Given the description of an element on the screen output the (x, y) to click on. 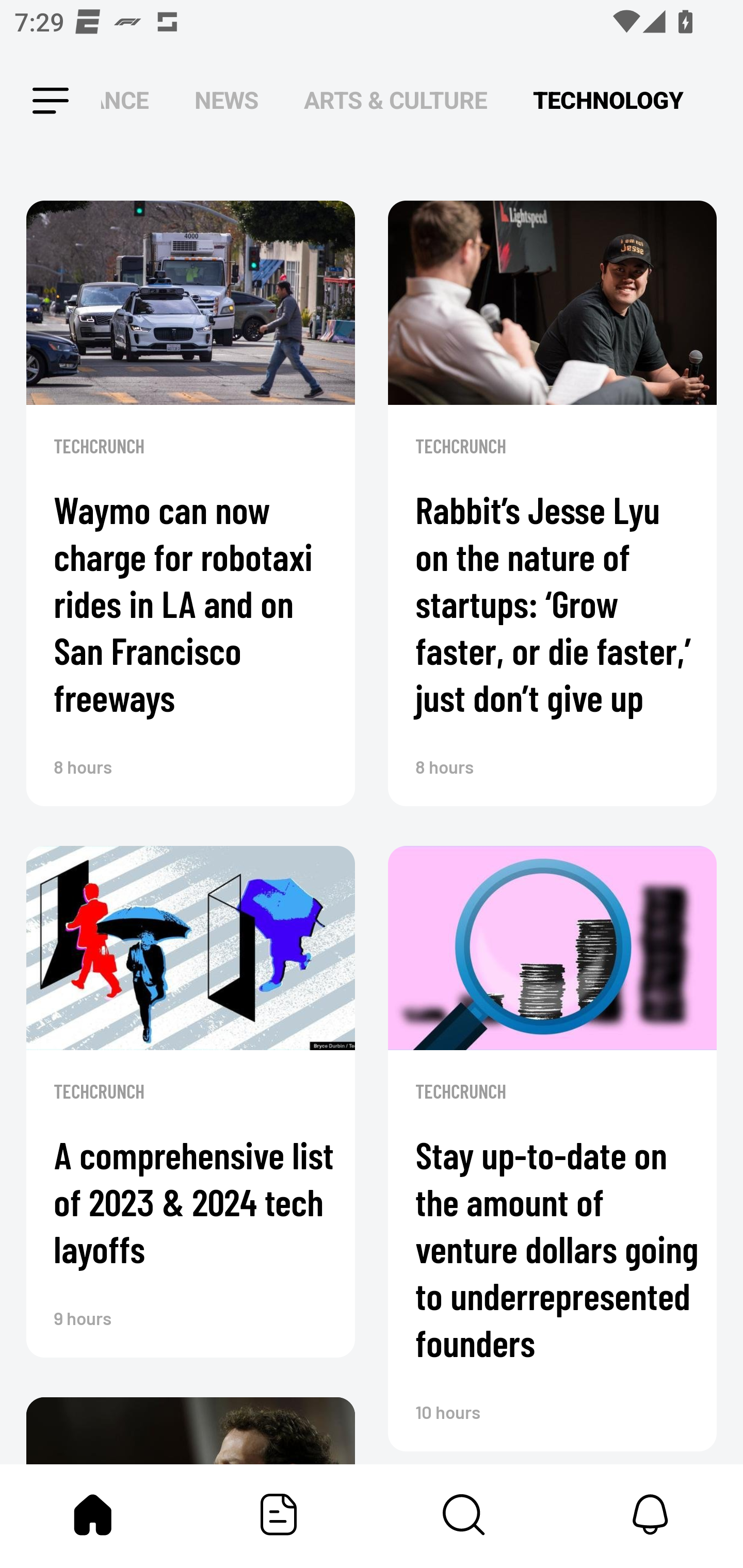
BUSINESS & FINANCE (125, 100)
NEWS (226, 100)
ARTS & CULTURE (395, 100)
Featured (278, 1514)
Content Store (464, 1514)
Notifications (650, 1514)
